Given the description of an element on the screen output the (x, y) to click on. 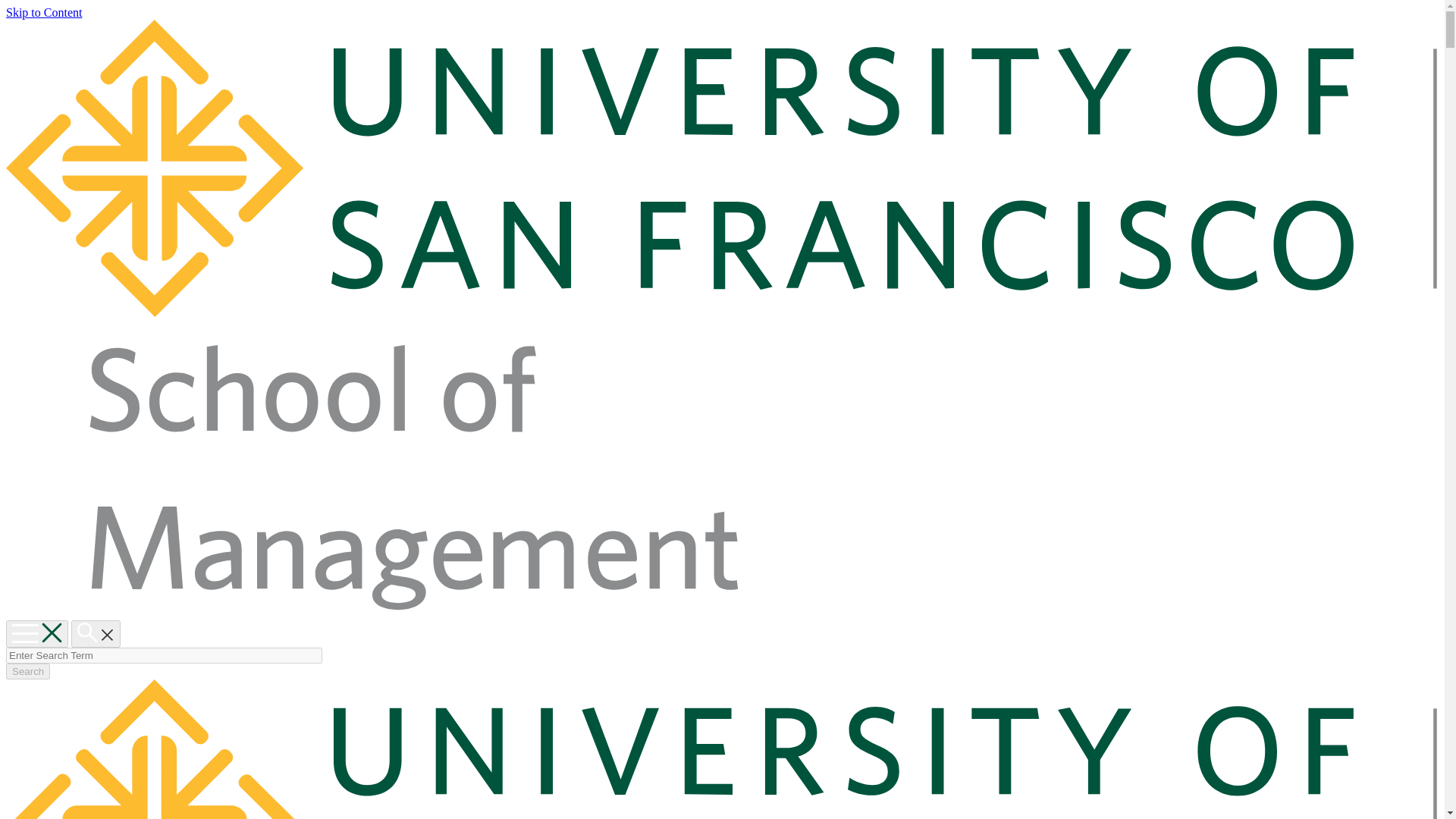
Menu (36, 633)
Search (27, 671)
Search (95, 633)
Skip to Content (43, 11)
Search (27, 671)
